Given the description of an element on the screen output the (x, y) to click on. 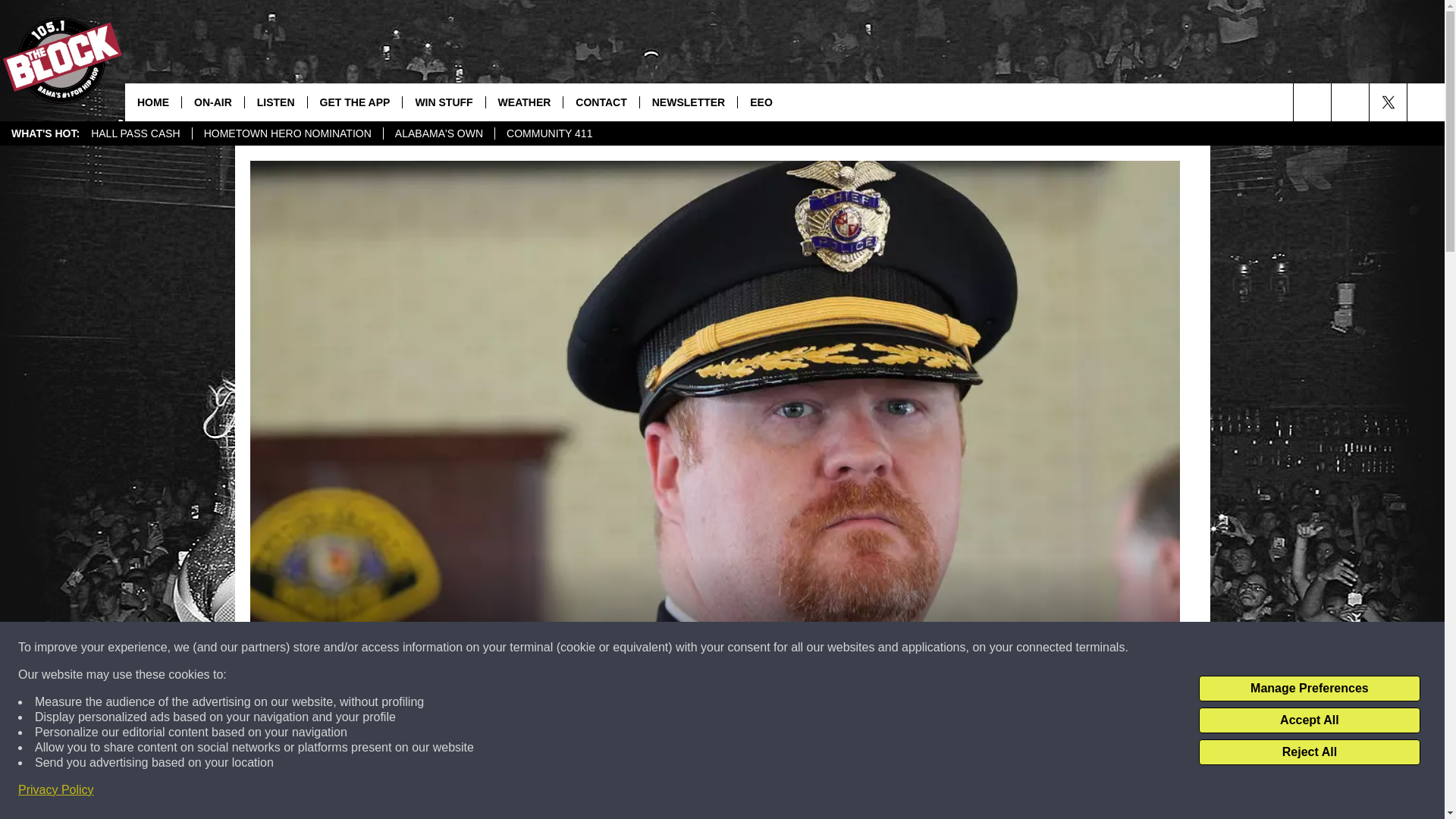
ALABAMA'S OWN (438, 133)
HOMETOWN HERO NOMINATION (287, 133)
Share on Twitter (912, 791)
LISTEN (275, 102)
Accept All (1309, 720)
ON-AIR (212, 102)
Manage Preferences (1309, 688)
GET THE APP (355, 102)
CONTACT (600, 102)
Privacy Policy (55, 789)
WIN STUFF (442, 102)
Share on Facebook (517, 791)
WEATHER (523, 102)
COMMUNITY 411 (549, 133)
Reject All (1309, 751)
